Given the description of an element on the screen output the (x, y) to click on. 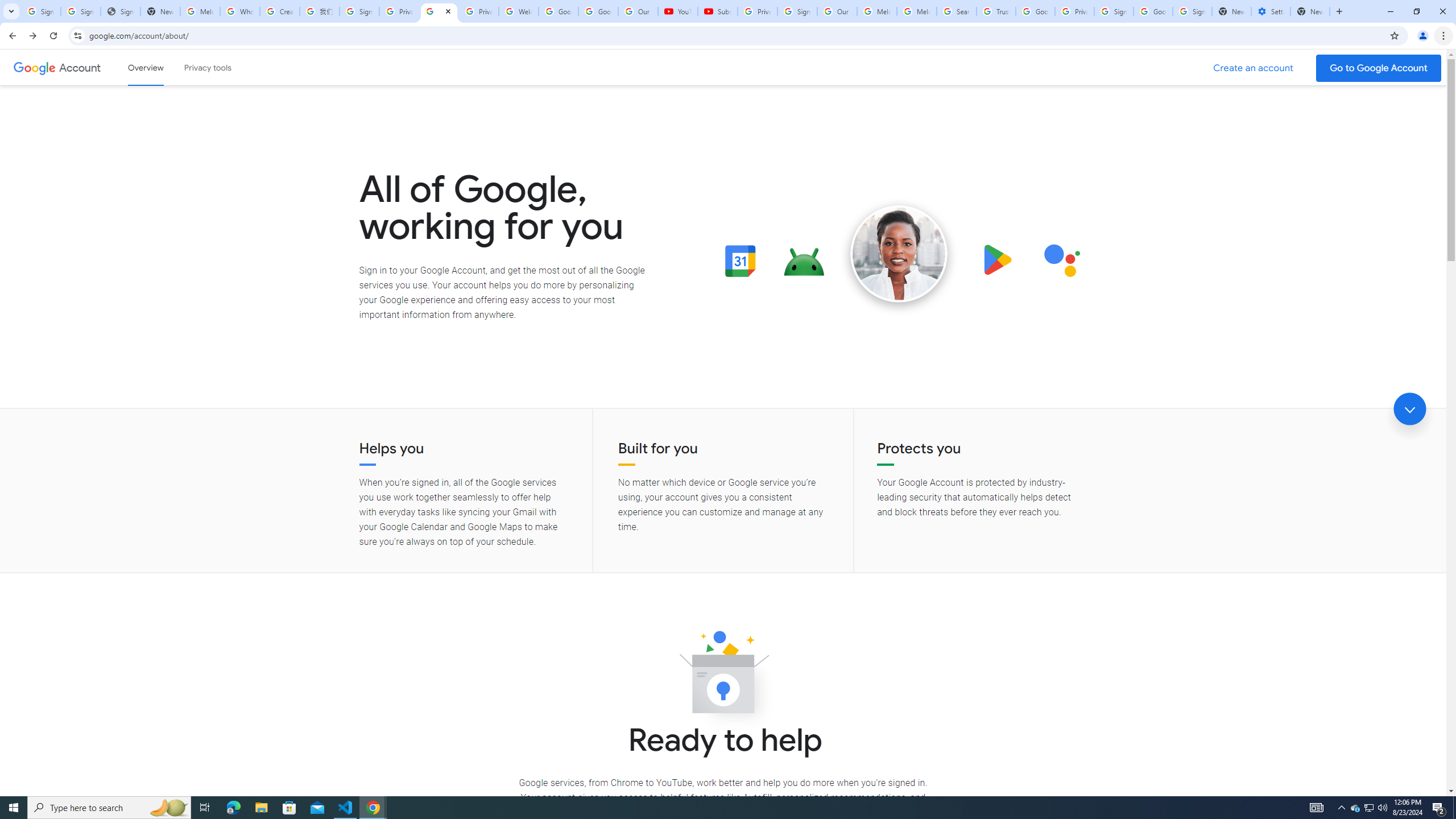
YouTube (677, 11)
Sign in - Google Accounts (1113, 11)
Skip to Content (162, 65)
Subscriptions - YouTube (717, 11)
Google Account (80, 67)
